Given the description of an element on the screen output the (x, y) to click on. 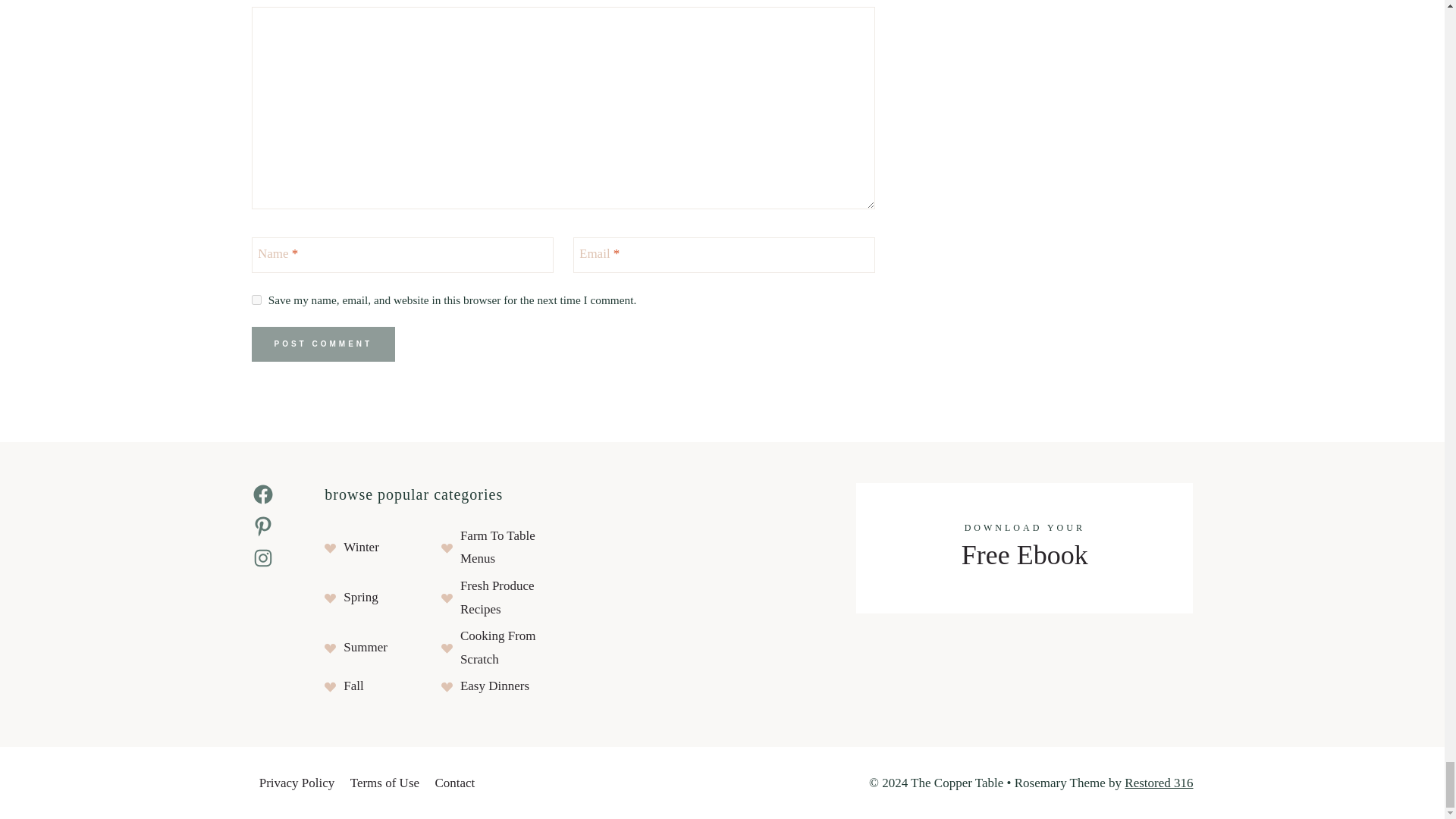
Post Comment (323, 343)
yes (256, 299)
